Given the description of an element on the screen output the (x, y) to click on. 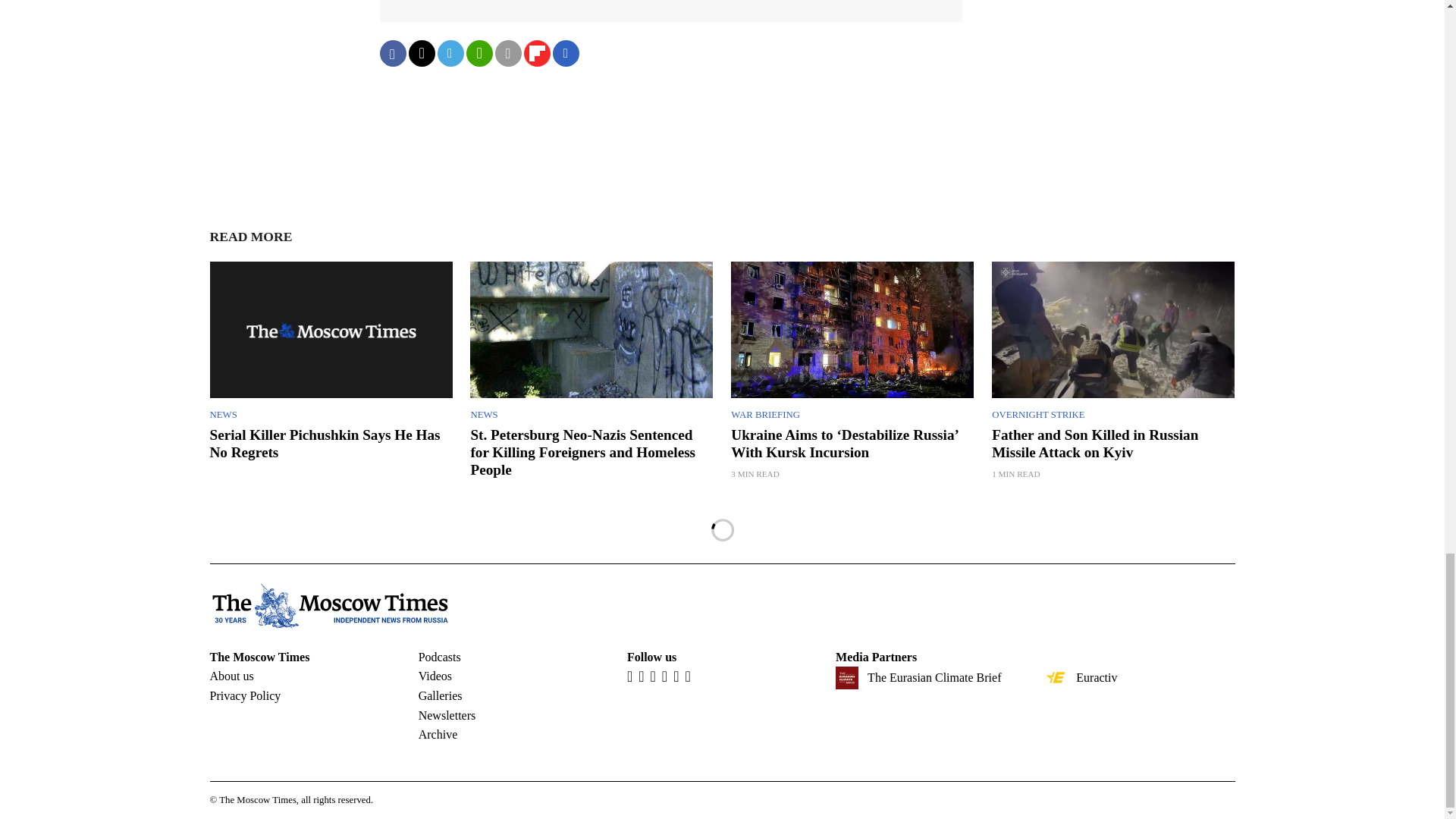
Share on Twitter (420, 53)
Share on Telegram (449, 53)
Share on Flipboard (536, 53)
Share on Facebook (392, 53)
